Given the description of an element on the screen output the (x, y) to click on. 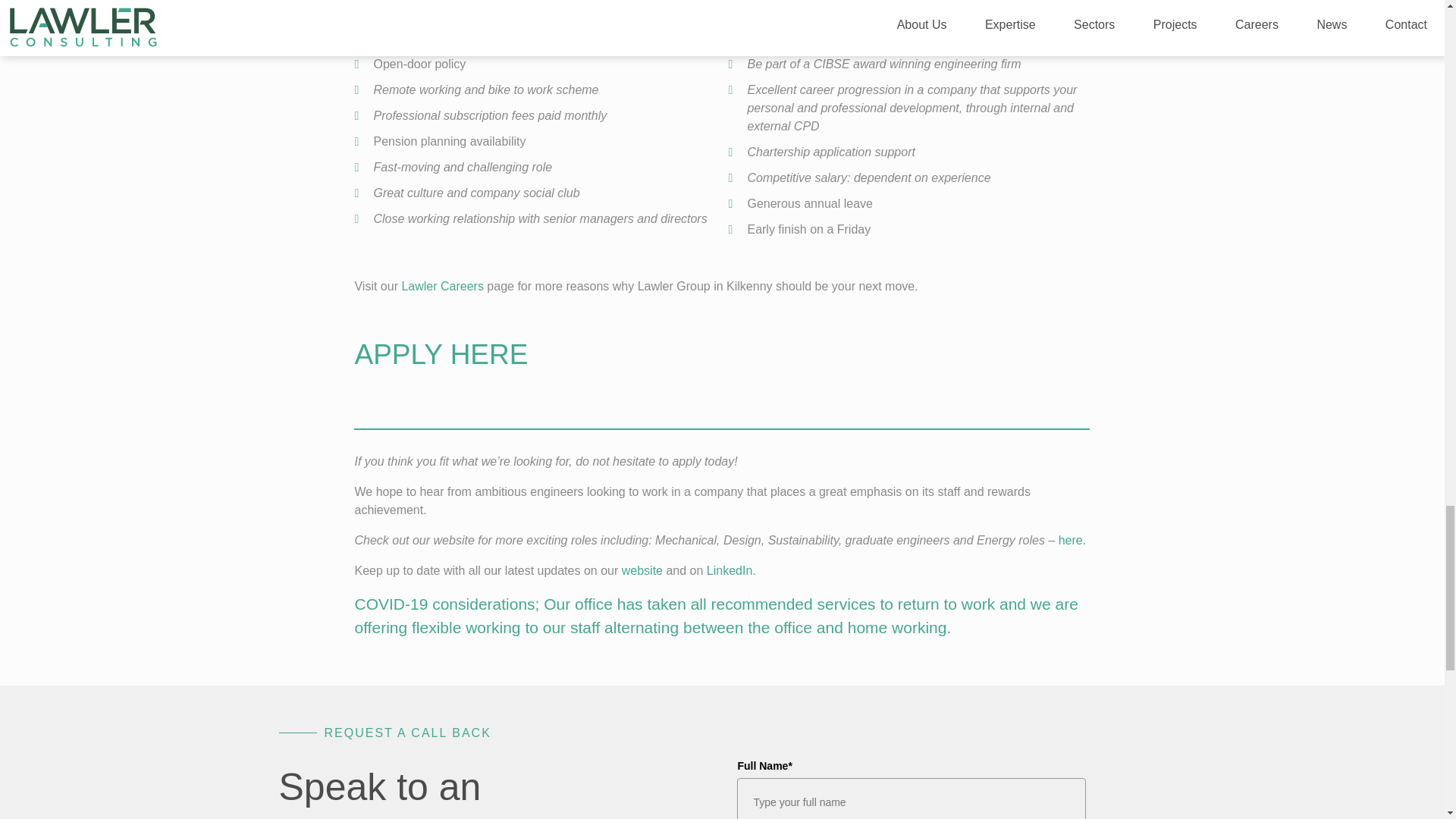
Lawler Careers (442, 286)
website (641, 570)
LinkedIn. (730, 570)
here. (1072, 540)
APPLY HERE (440, 354)
